Given the description of an element on the screen output the (x, y) to click on. 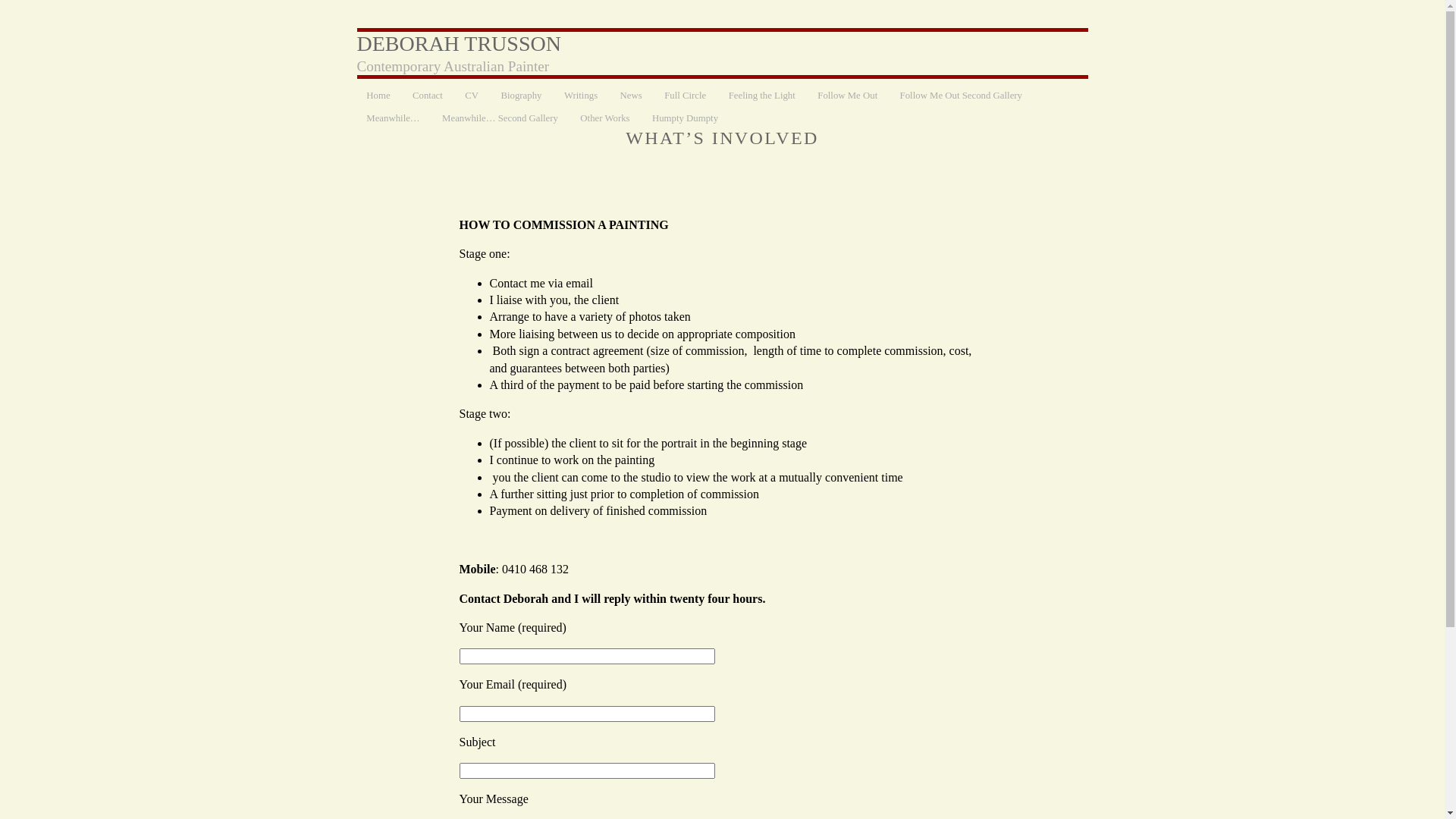
CV Element type: text (471, 95)
Other Works Element type: text (605, 117)
Writings Element type: text (580, 95)
Home Element type: text (377, 95)
Follow Me Out Second Gallery Element type: text (961, 95)
News Element type: text (631, 95)
Contact Element type: text (426, 95)
Humpty Dumpty Element type: text (685, 117)
Biography Element type: text (521, 95)
Feeling the Light Element type: text (761, 95)
Full Circle Element type: text (684, 95)
Follow Me Out Element type: text (847, 95)
DEBORAH TRUSSON Element type: text (458, 43)
